Given the description of an element on the screen output the (x, y) to click on. 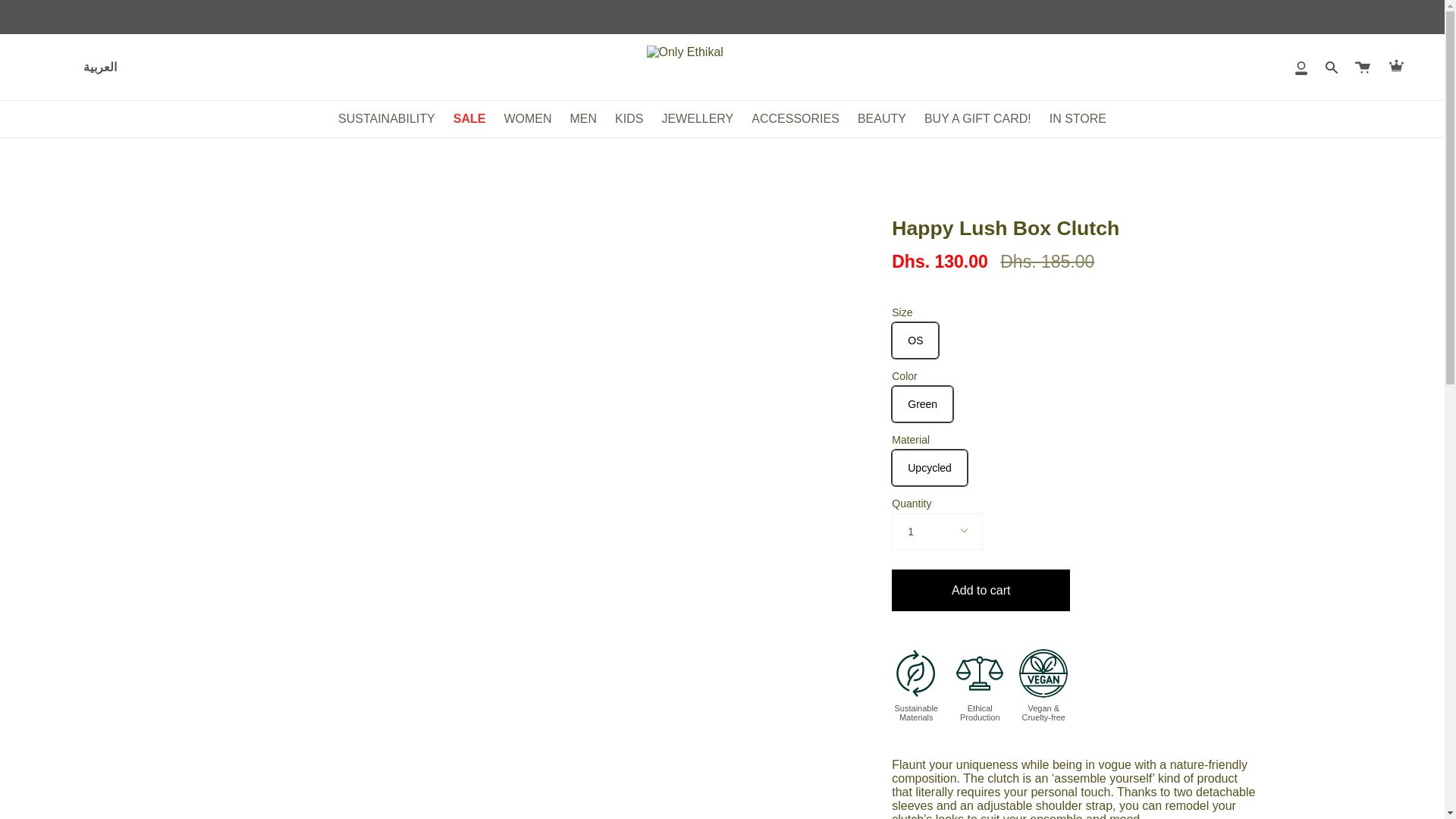
crown (1396, 65)
SALE (469, 118)
KIDS (628, 118)
JEWELLERY (697, 118)
SUSTAINABILITY (386, 118)
WOMEN (527, 118)
MEN (583, 118)
